Given the description of an element on the screen output the (x, y) to click on. 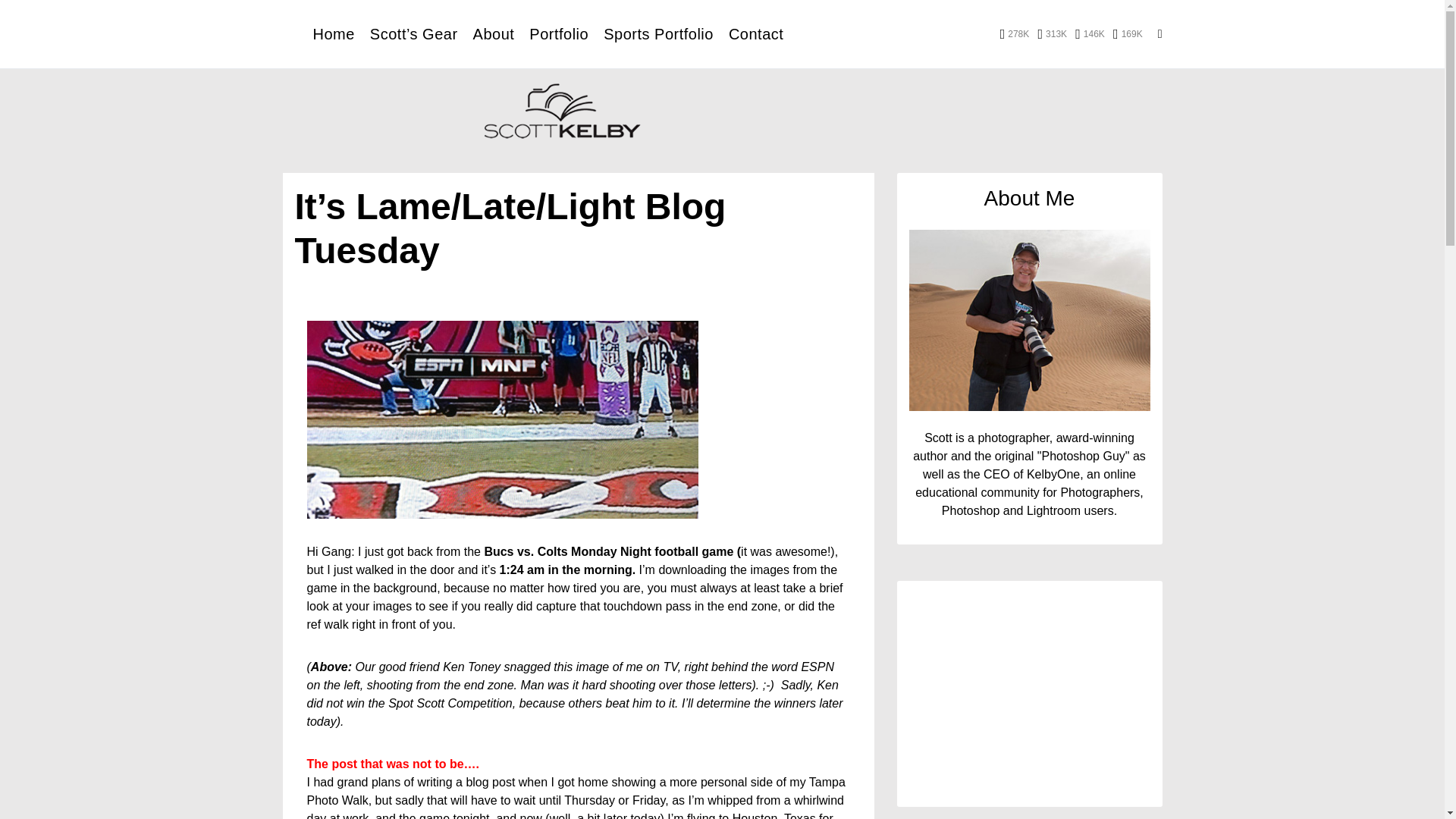
278K (1014, 33)
313K (1051, 33)
146K (1090, 33)
169K (1127, 33)
kentoneypicsm (501, 419)
Sports Portfolio (658, 33)
